Given the description of an element on the screen output the (x, y) to click on. 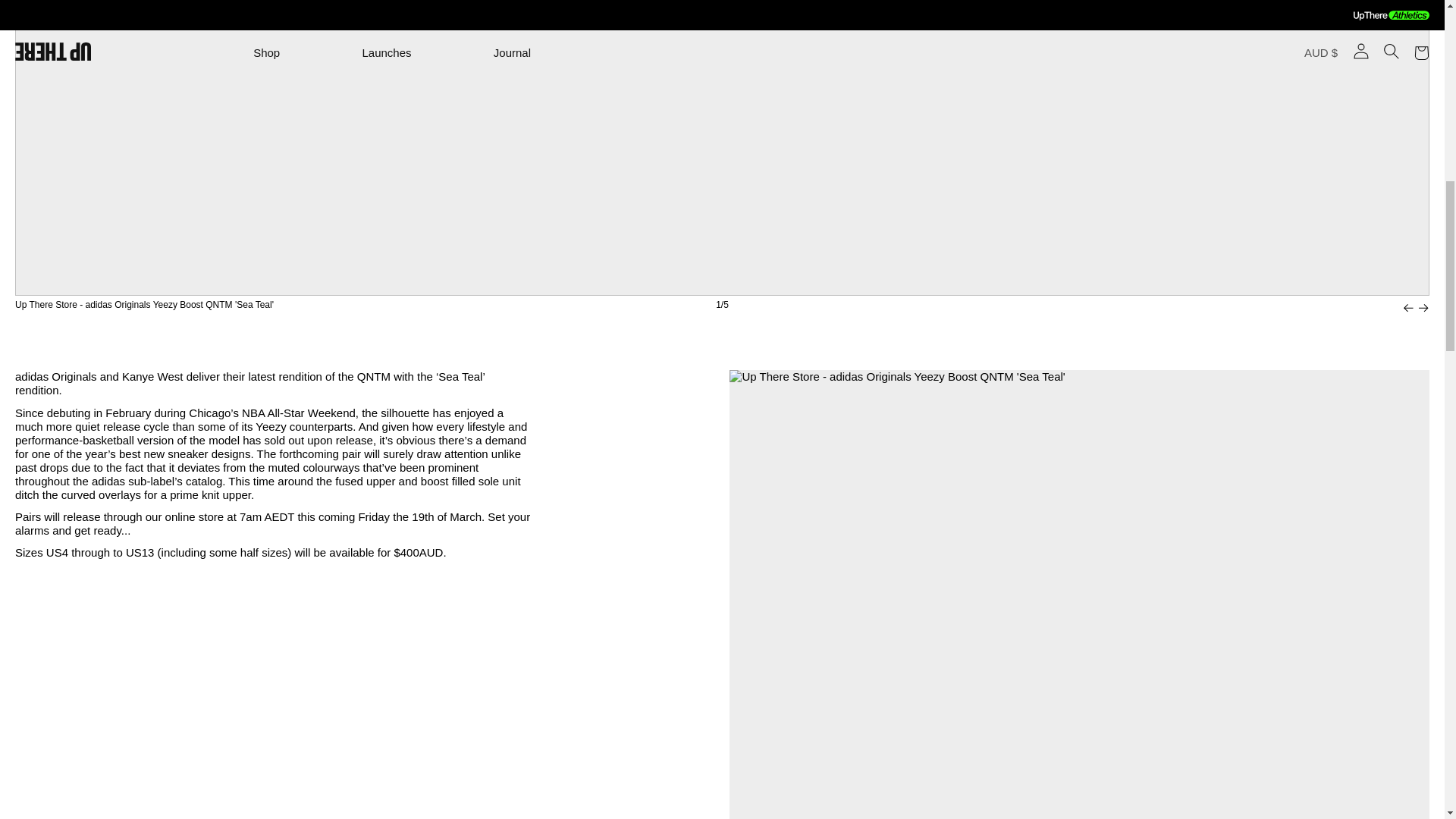
Up There Store - adidas Yeezy QNTM - Sea Teal (271, 523)
Up There Store - adidas Yeezy QNTM - Sea Teal (228, 552)
Shop adidas Originals (55, 376)
